Given the description of an element on the screen output the (x, y) to click on. 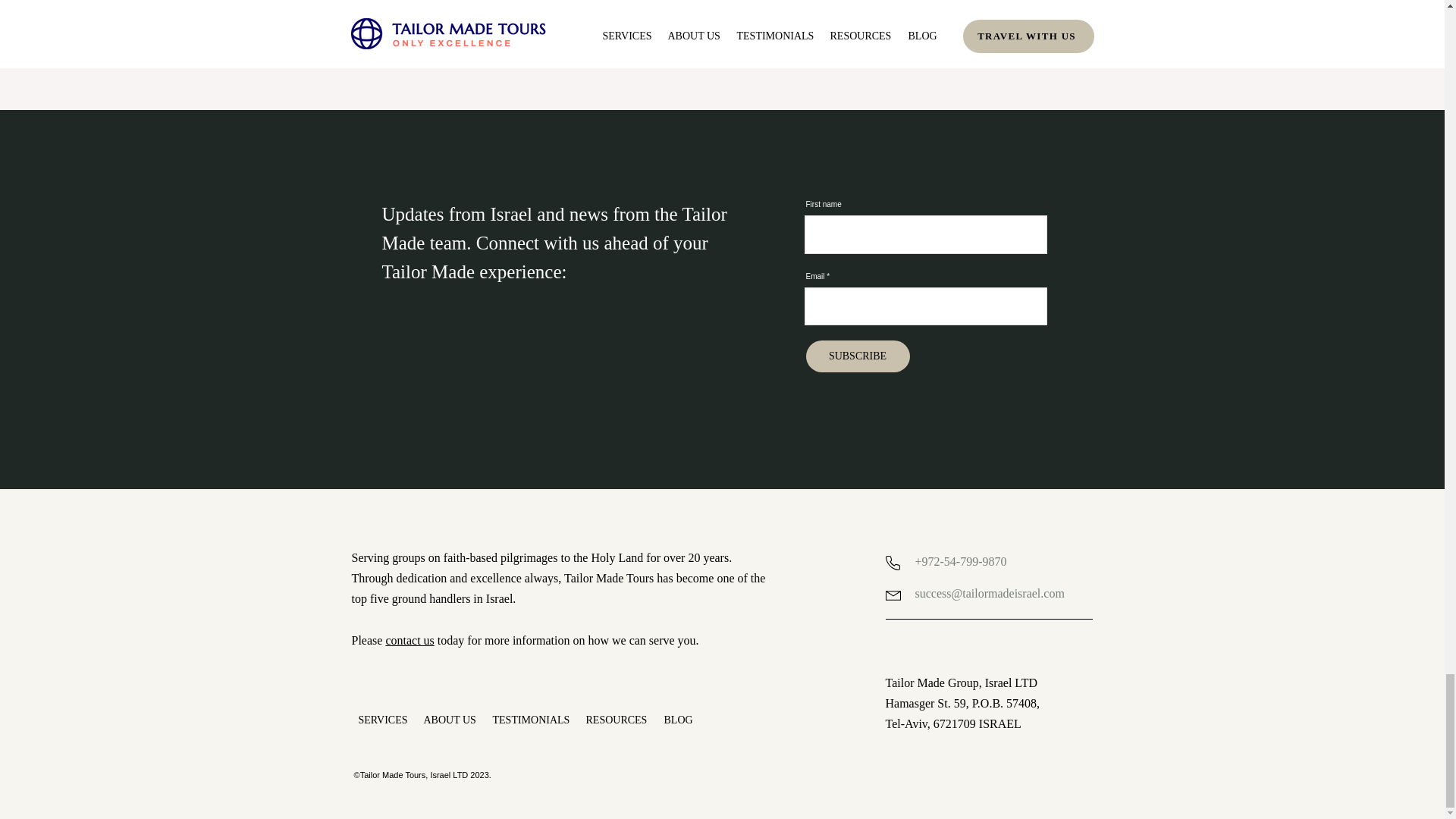
contact us (409, 640)
ABOUT US (449, 719)
The 10 Commandments of Tailor Made (721, 6)
SERVICES (382, 719)
The Jordan River Baptismal Site (471, 6)
TESTIMONIALS (531, 719)
SUBSCRIBE (856, 356)
